Given the description of an element on the screen output the (x, y) to click on. 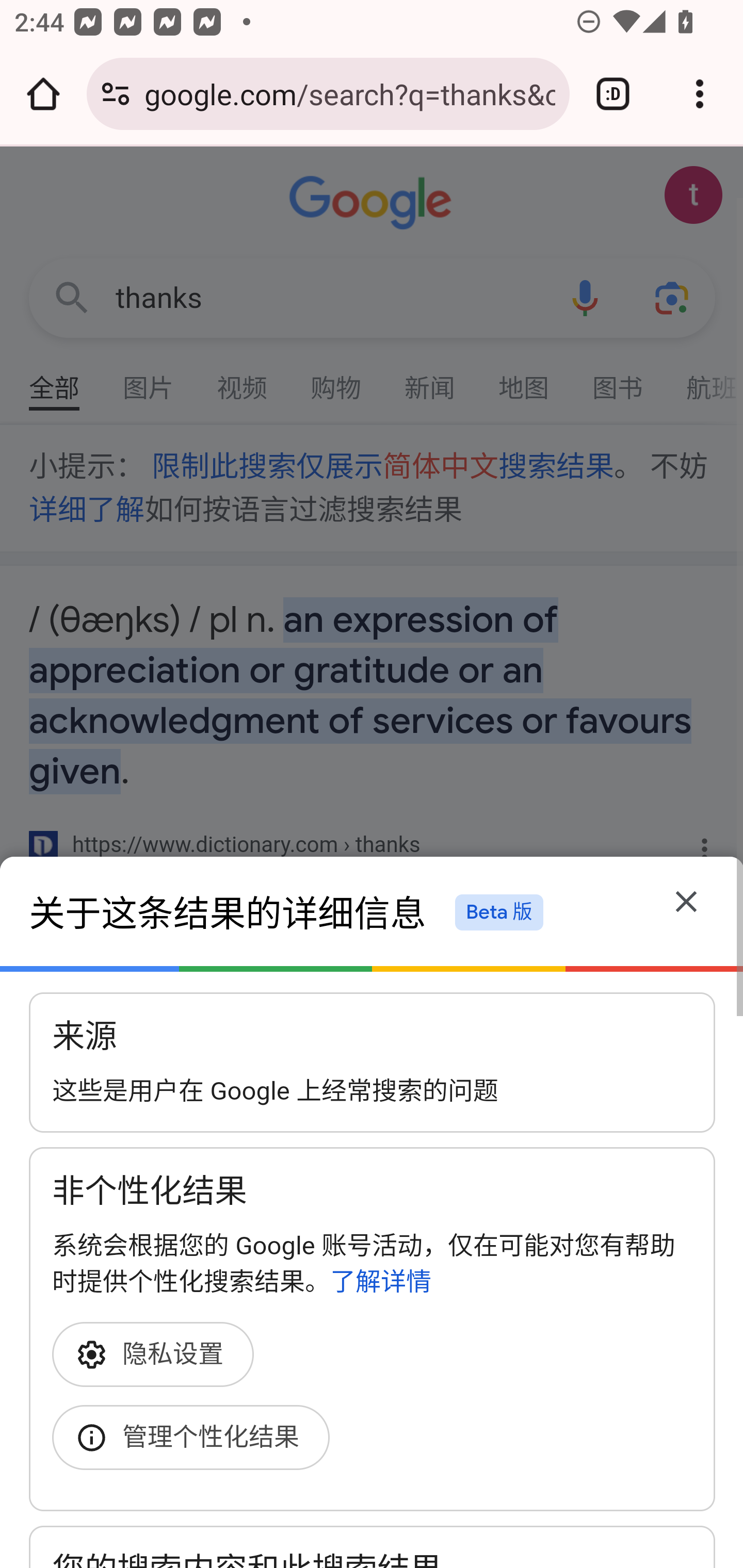
Open the home page (43, 93)
Connection is secure (115, 93)
Switch or close tabs (612, 93)
Customize and control Google Chrome (699, 93)
关闭“关于这条结果” (686, 905)
了解详情 (380, 1281)
隐私设置 (159, 1354)
管理个性化结果 (197, 1437)
